Given the description of an element on the screen output the (x, y) to click on. 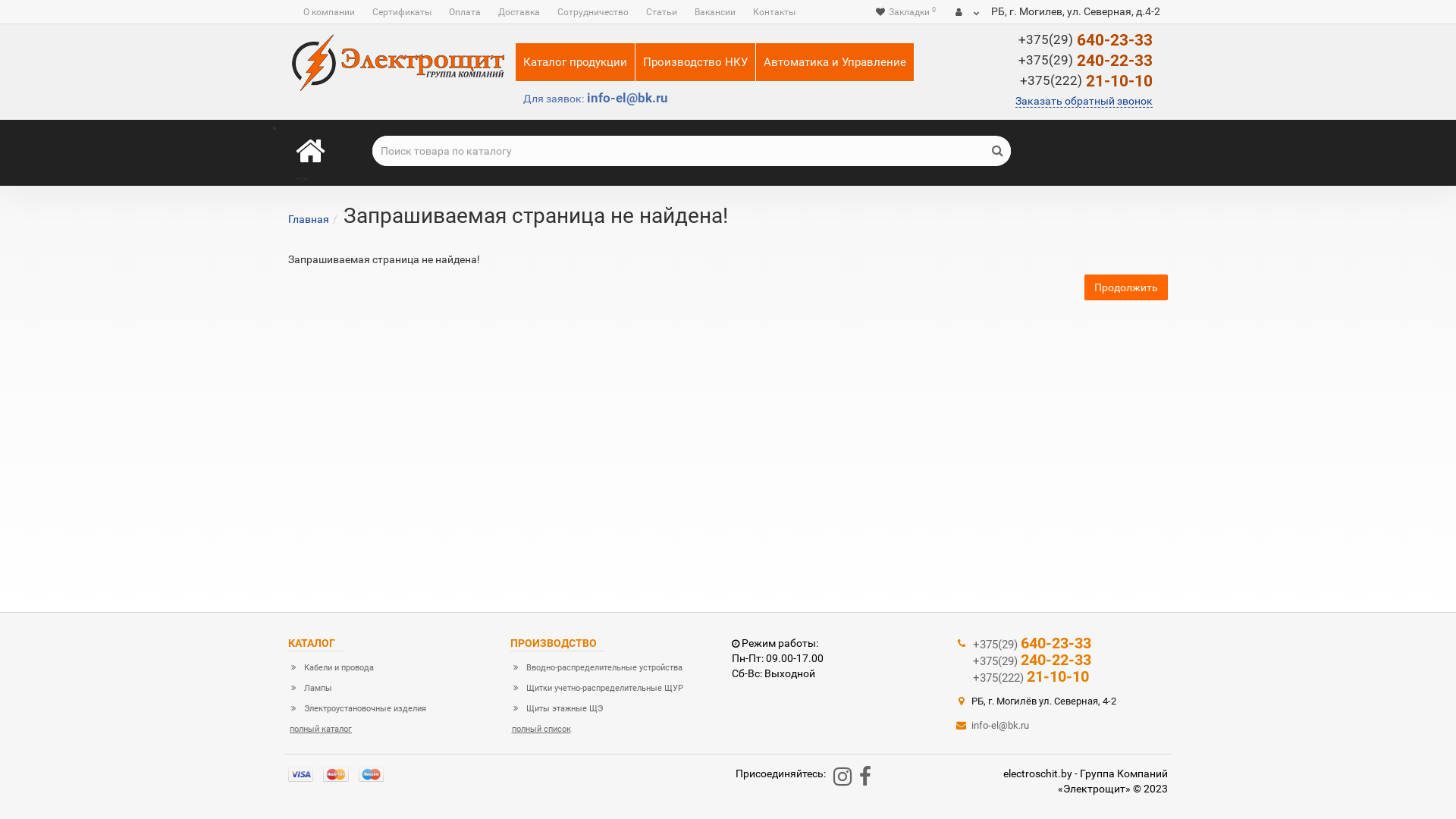
info-el@bk.ru Element type: text (991, 725)
+375(29) 240-22-33 Element type: text (1085, 60)
+375(222) 21-10-10 Element type: text (1066, 676)
+375(29) 640-23-33 Element type: text (1066, 643)
+375(29) 640-23-33 Element type: text (1085, 40)
+375(222) 21-10-10 Element type: text (1085, 81)
+375(29) 240-22-33 Element type: text (1066, 660)
